Given the description of an element on the screen output the (x, y) to click on. 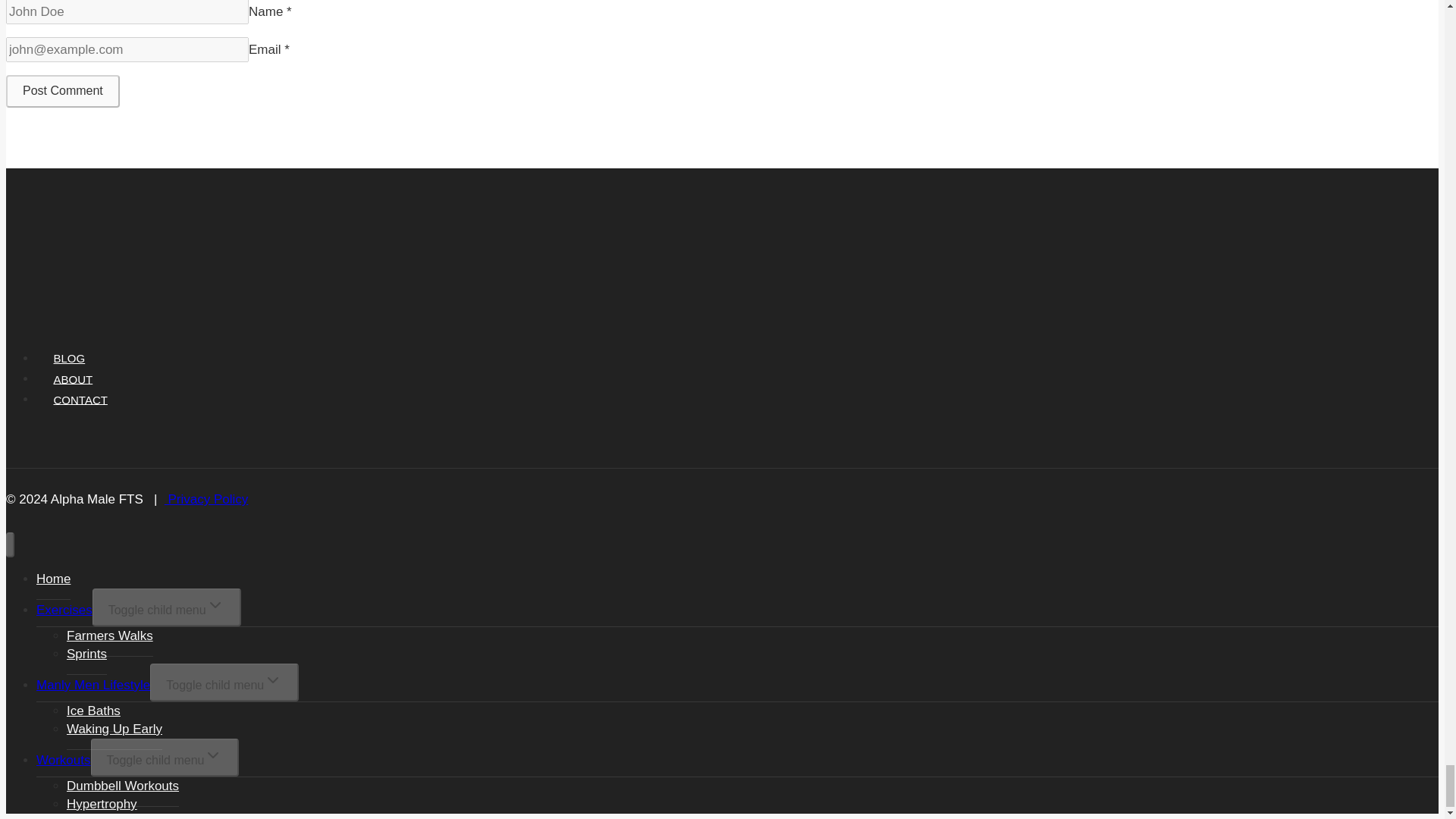
Expand (272, 679)
Expand (212, 755)
Post Comment (62, 91)
Expand (215, 605)
